Given the description of an element on the screen output the (x, y) to click on. 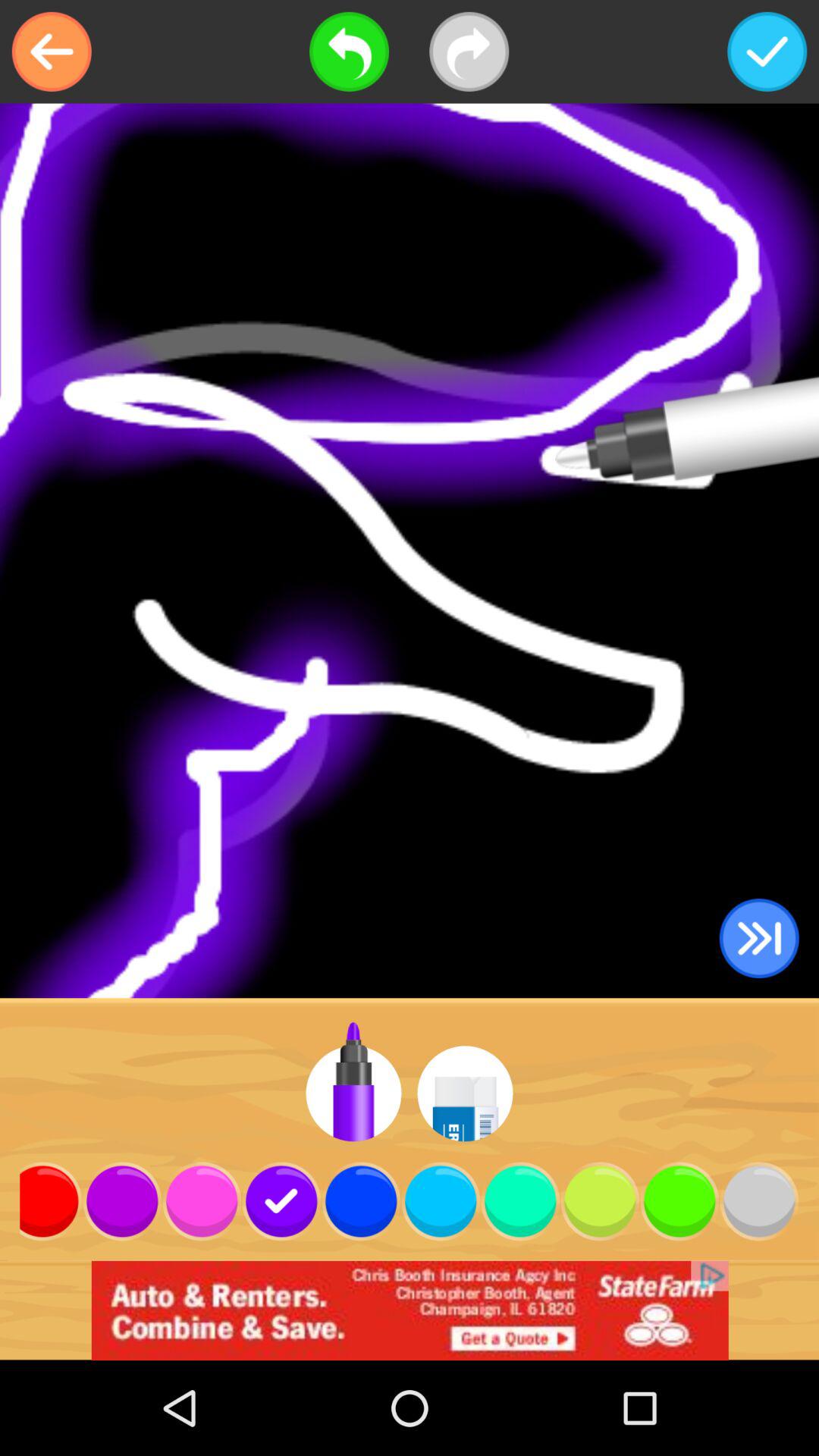
turn off the icon on the right (759, 938)
